Given the description of an element on the screen output the (x, y) to click on. 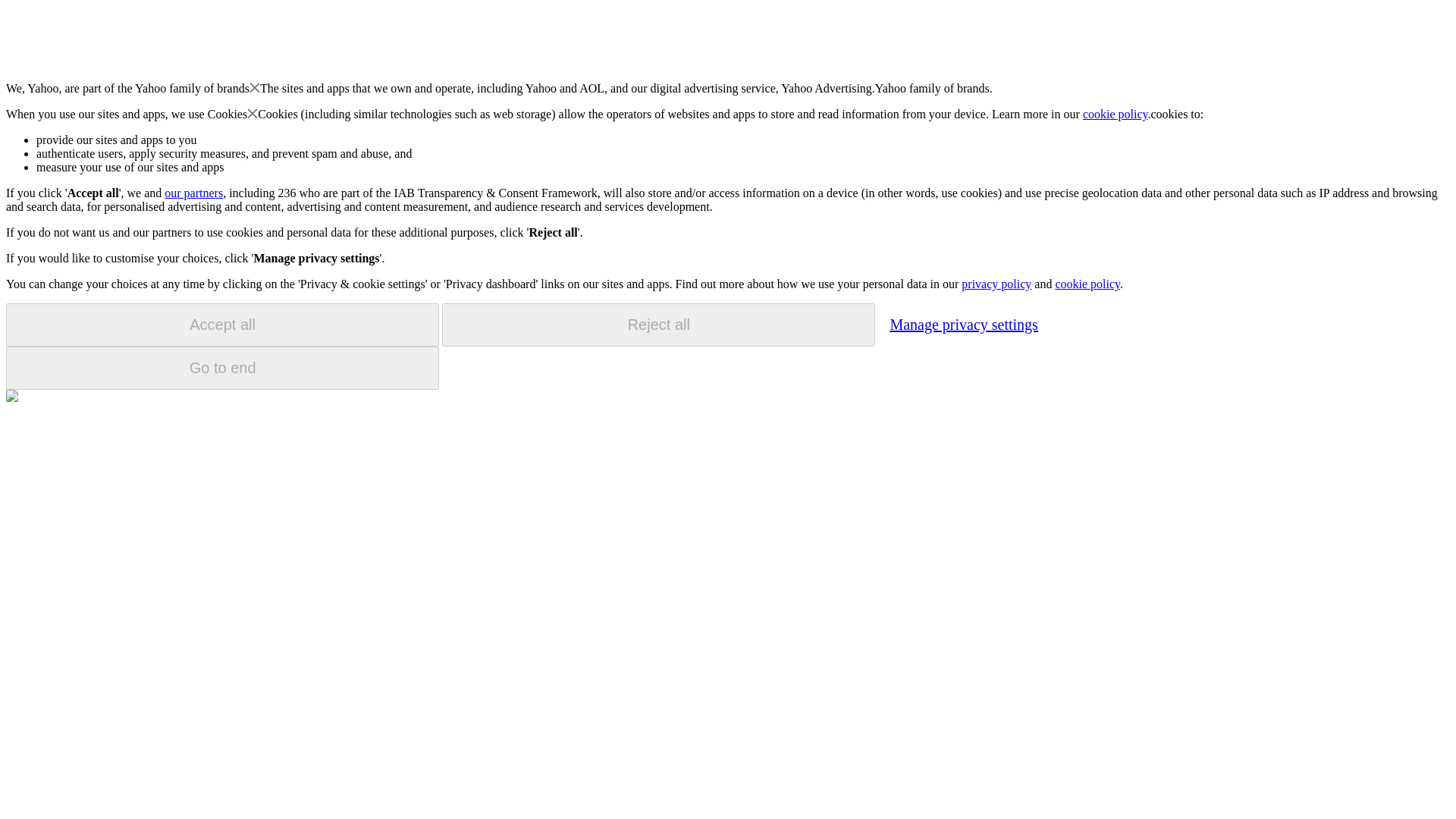
Go to end (222, 367)
Reject all (658, 324)
privacy policy (995, 283)
Accept all (222, 324)
cookie policy (1115, 113)
Manage privacy settings (963, 323)
our partners (193, 192)
cookie policy (1086, 283)
